Given the description of an element on the screen output the (x, y) to click on. 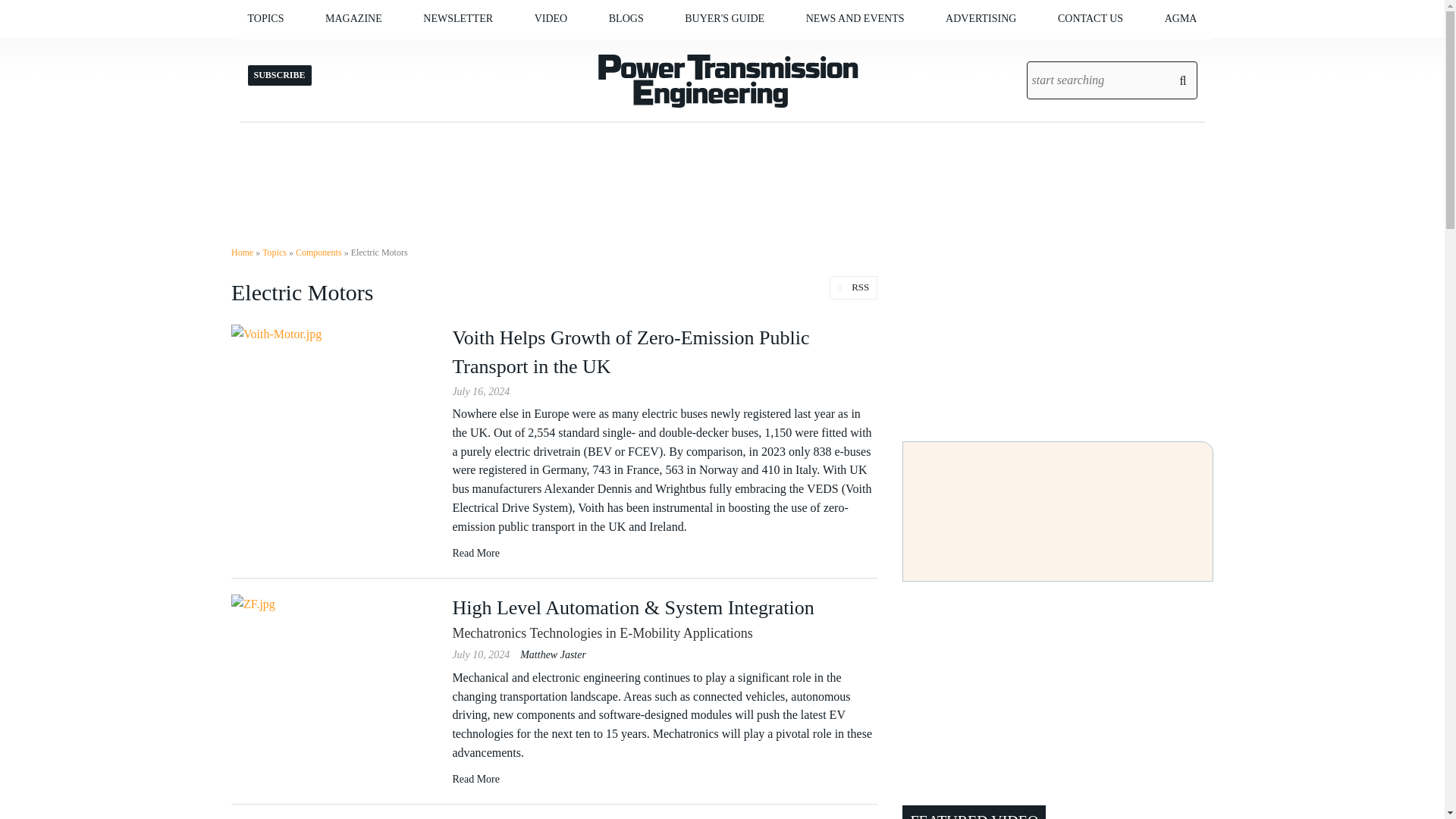
EVENTS (892, 50)
BLOGS (625, 18)
PRODUCT NEWS (882, 50)
APPLICATIONS (334, 50)
ARCHIVES (411, 50)
BUYER'S GUIDE (724, 18)
NEWS AND EVENTS (855, 18)
WEBINARS (617, 50)
EDITORS CHOICE (690, 50)
INDUSTRY NEWS (886, 50)
MANUFACTURING (328, 50)
MRO (345, 50)
REVOLUTIONS (684, 50)
BRAND AWARENESS (1020, 50)
POWER TRANSMISSION ENGINEERING TV (609, 55)
